Given the description of an element on the screen output the (x, y) to click on. 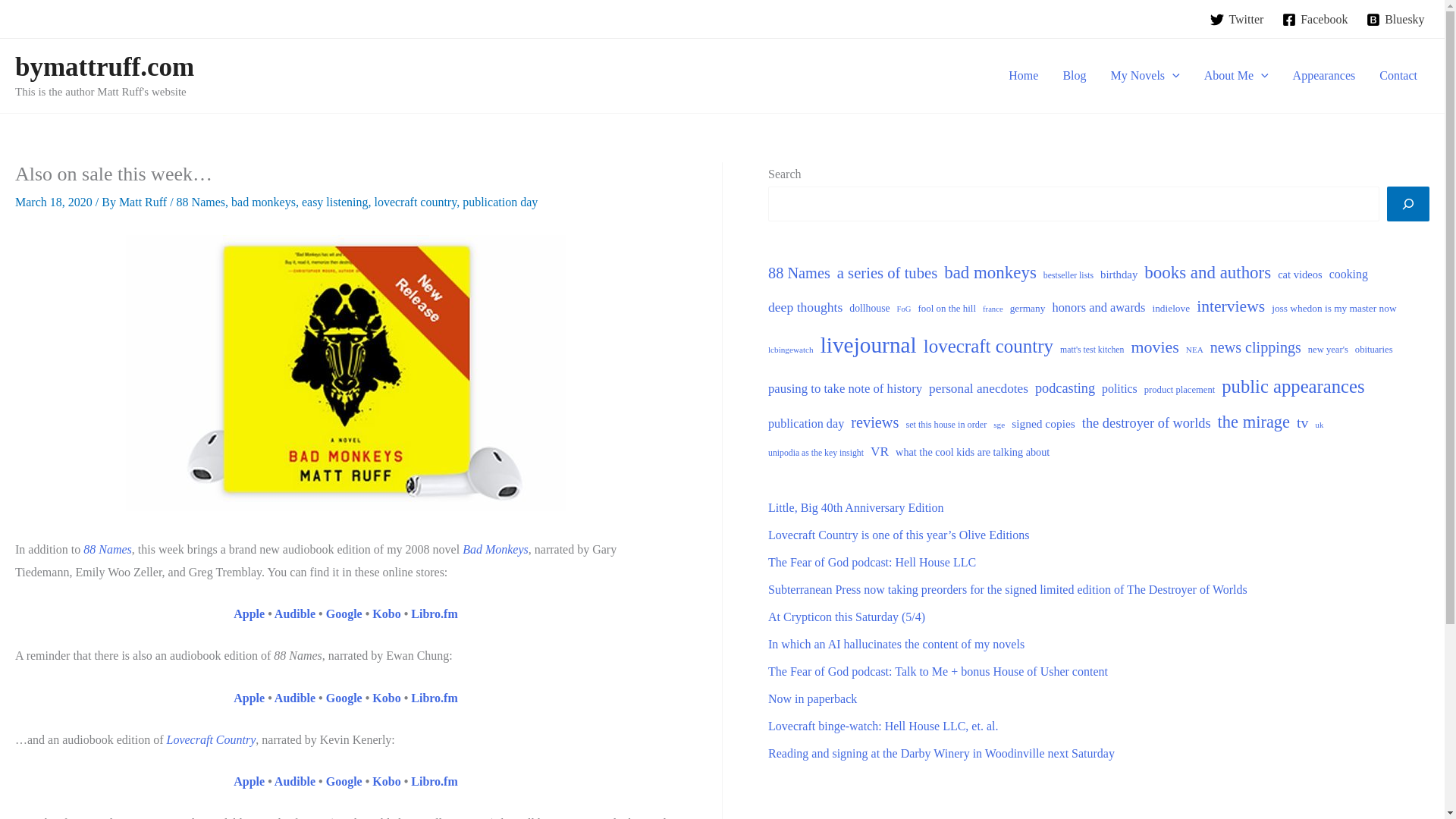
Bluesky (1395, 19)
Contact (1398, 75)
My Novels (1145, 75)
View all posts by Matt Ruff (144, 201)
Facebook (1315, 19)
About Me (1236, 75)
bymattruff.com (103, 66)
Twitter (1236, 19)
Appearances (1324, 75)
